Given the description of an element on the screen output the (x, y) to click on. 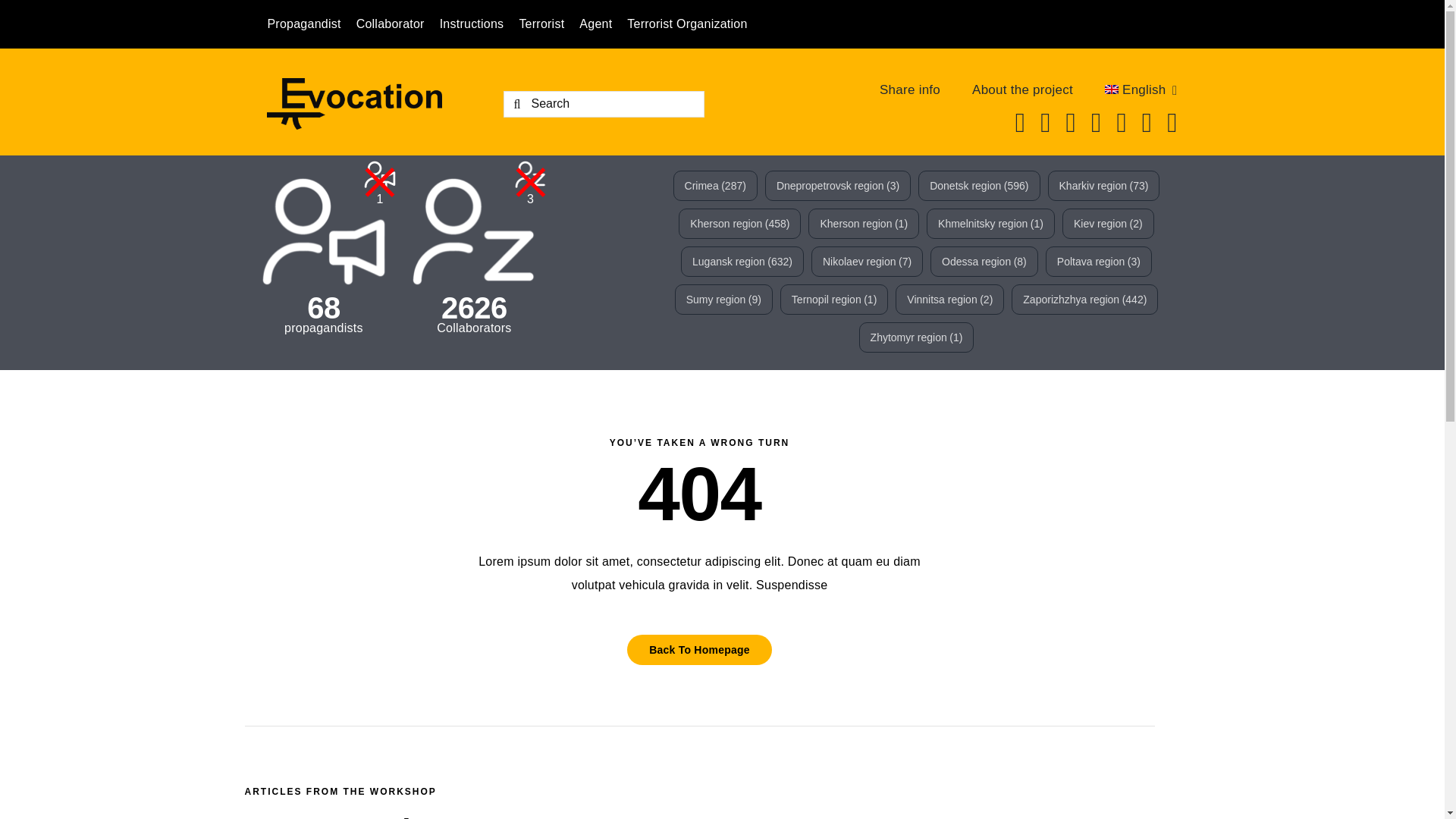
Share info (909, 89)
icon-04 (379, 174)
Instructions (479, 24)
Agent (603, 24)
Propagandist (310, 24)
Terrorist (548, 24)
icon-04 (323, 230)
Collaborator (397, 24)
English (1141, 89)
icon-03 (474, 230)
Terrorist Organization (694, 24)
English (1141, 89)
About the project (1022, 89)
